Given the description of an element on the screen output the (x, y) to click on. 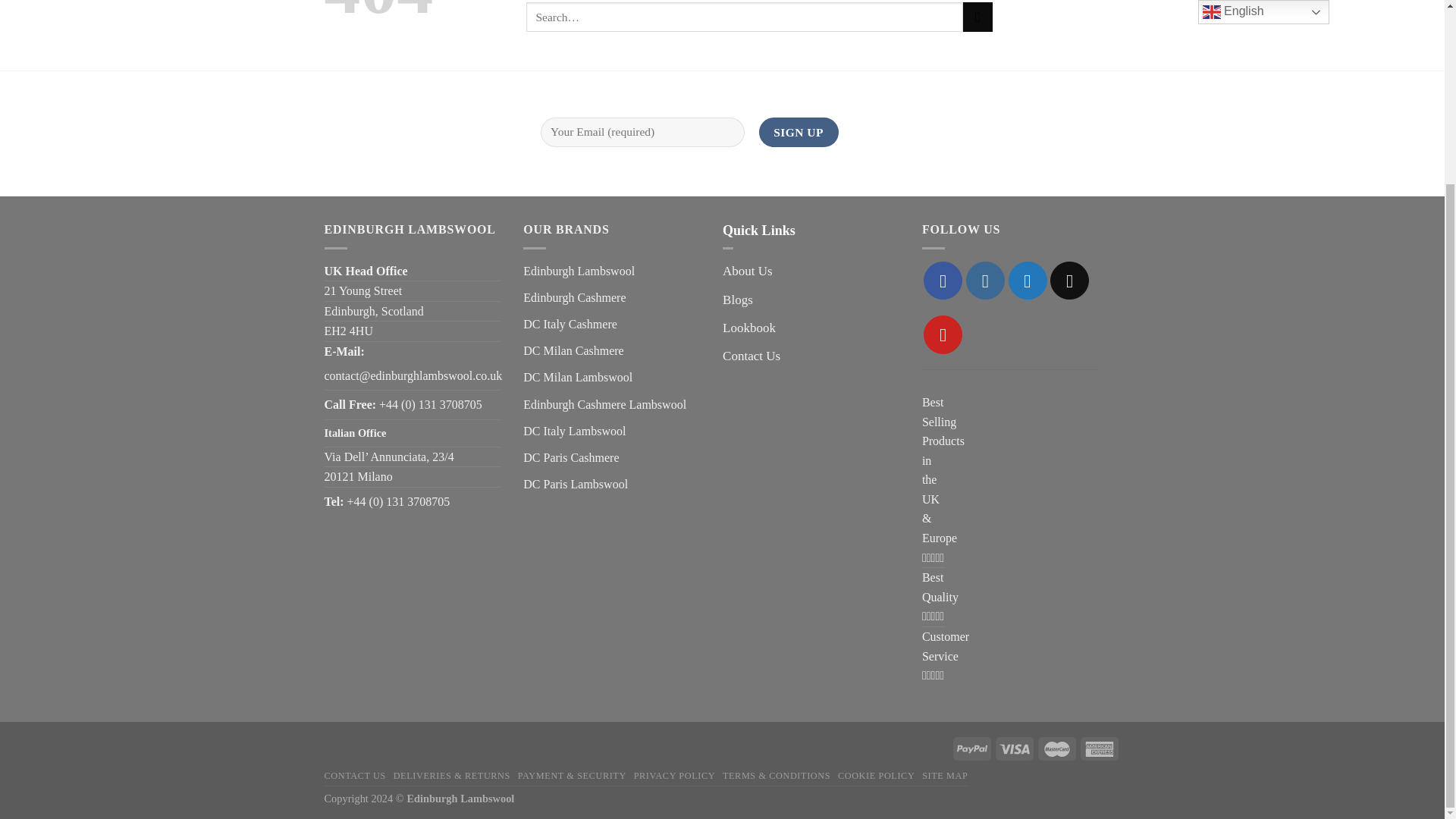
Sign Up (798, 132)
Contact Us (751, 355)
Lookbook (749, 327)
Sign Up (798, 132)
Blogs (737, 299)
About Us (747, 270)
